Given the description of an element on the screen output the (x, y) to click on. 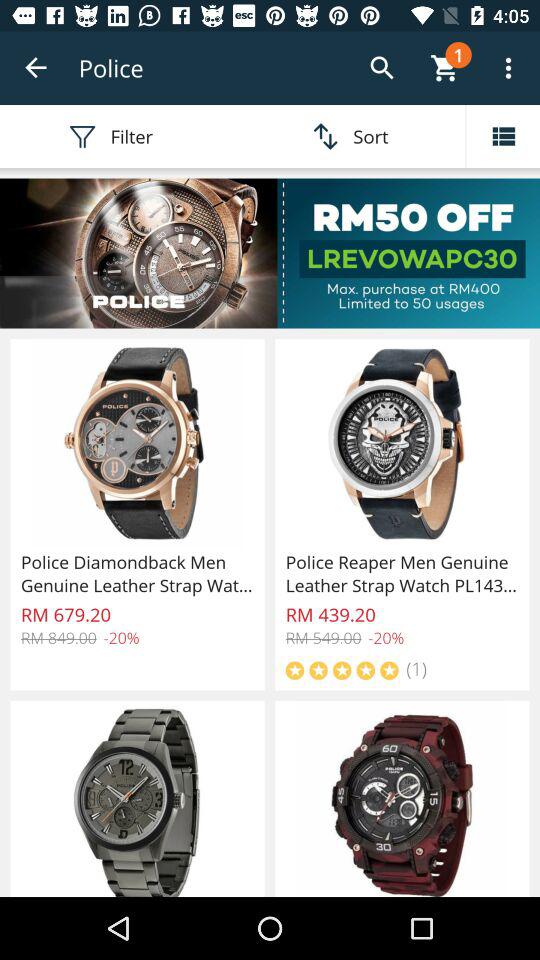
advert connected to what you are viewing (270, 253)
